Given the description of an element on the screen output the (x, y) to click on. 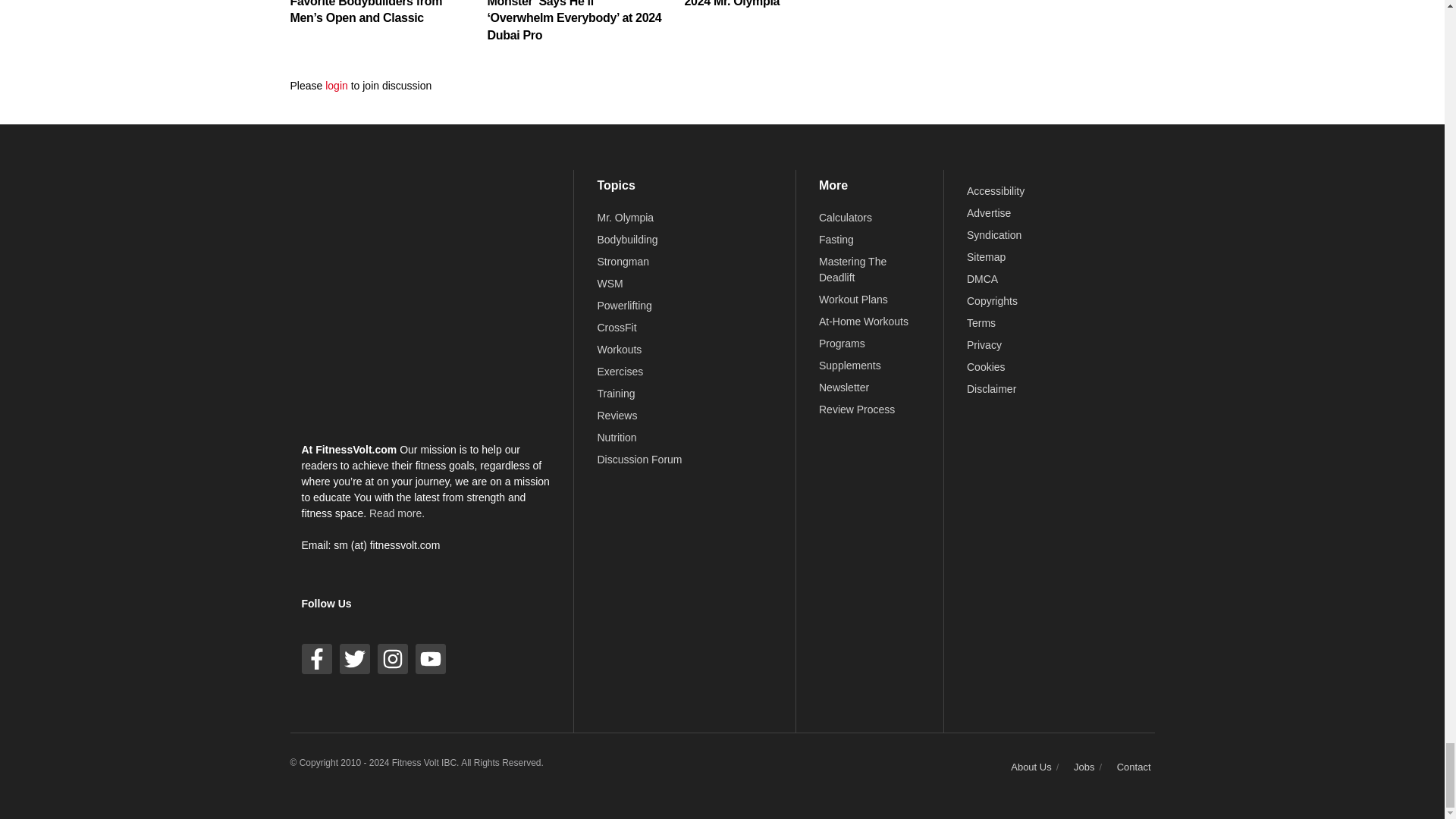
2019 Mr. Olympia News (624, 217)
Read more about Fitness Volt (397, 512)
Accessibility Conformance Status (995, 191)
